Given the description of an element on the screen output the (x, y) to click on. 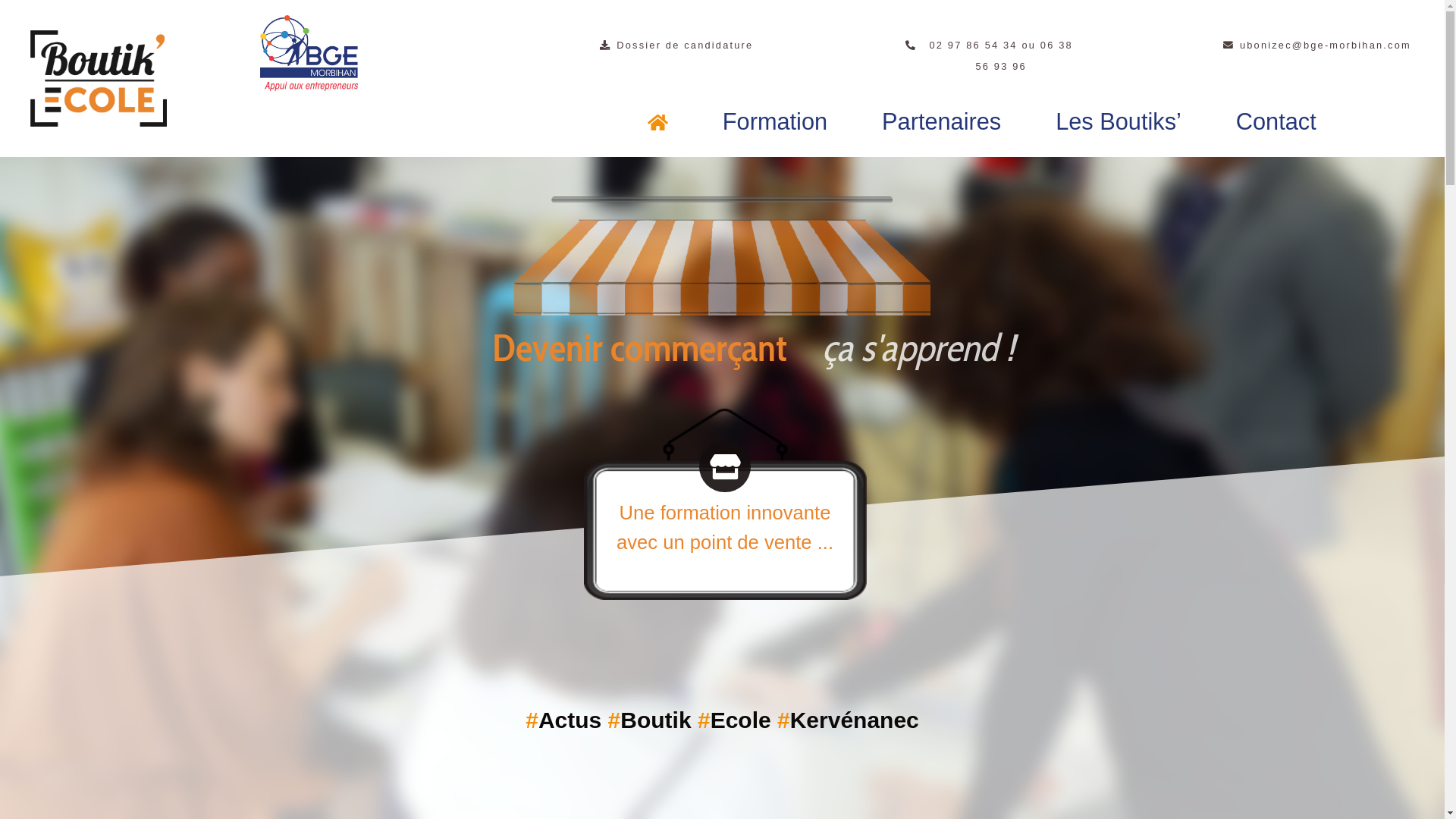
02 97 86 54 34 ou 06 38 56 93 96 Element type: text (992, 55)
Boutik-Ecole-formation-devenir-commercant Element type: hover (721, 267)
Formation Element type: text (774, 121)
Partenaires Element type: text (941, 121)
Contact Element type: text (1275, 121)
Dossier de candidature Element type: text (676, 45)
Boutik-Ecole-Formation-Lorient Element type: hover (721, 199)
ubonizec@bge-morbihan.com Element type: text (1316, 45)
